Given the description of an element on the screen output the (x, y) to click on. 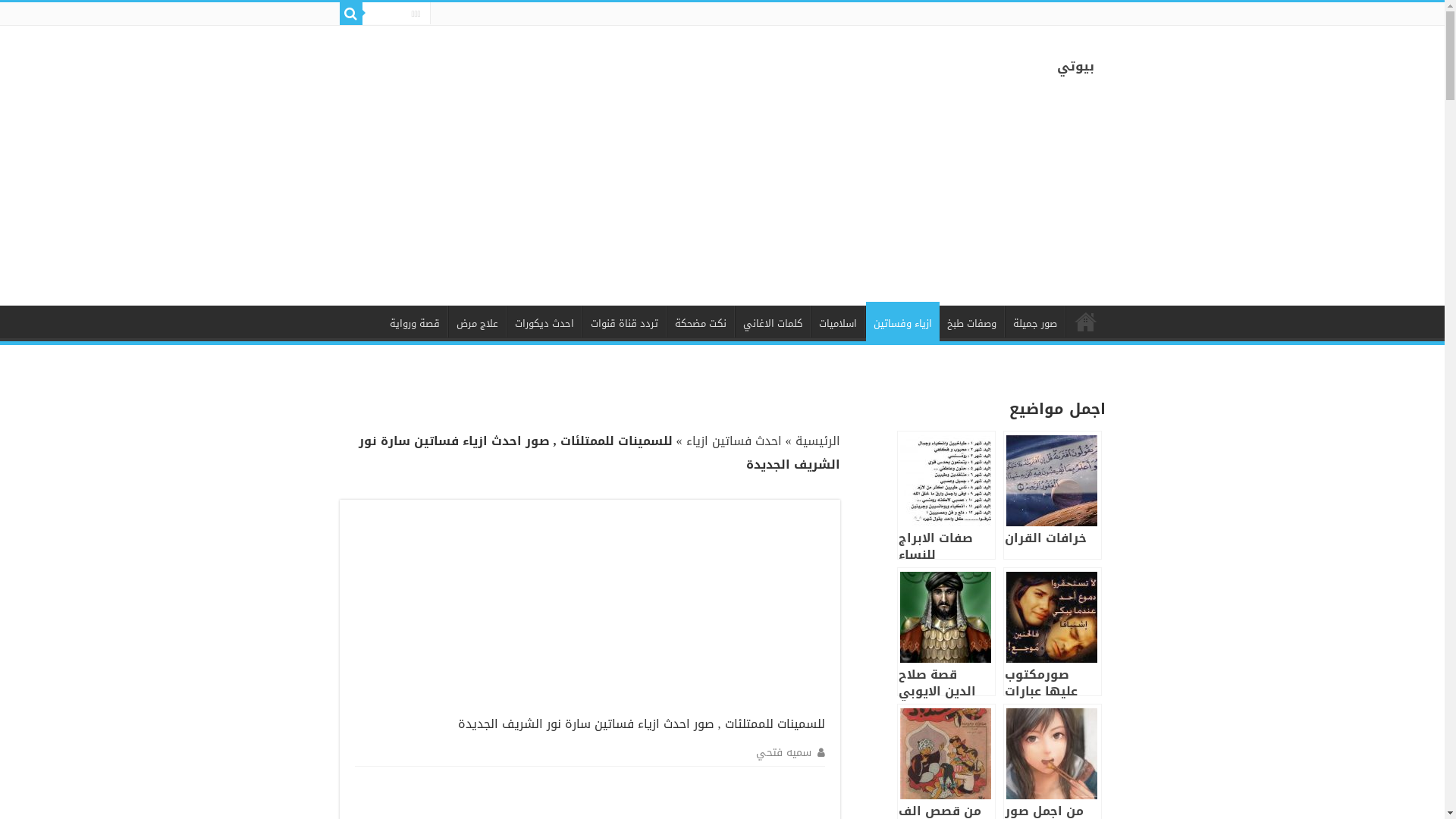
Advertisement Element type: hover (989, 199)
Advertisement Element type: hover (711, 609)
